Given the description of an element on the screen output the (x, y) to click on. 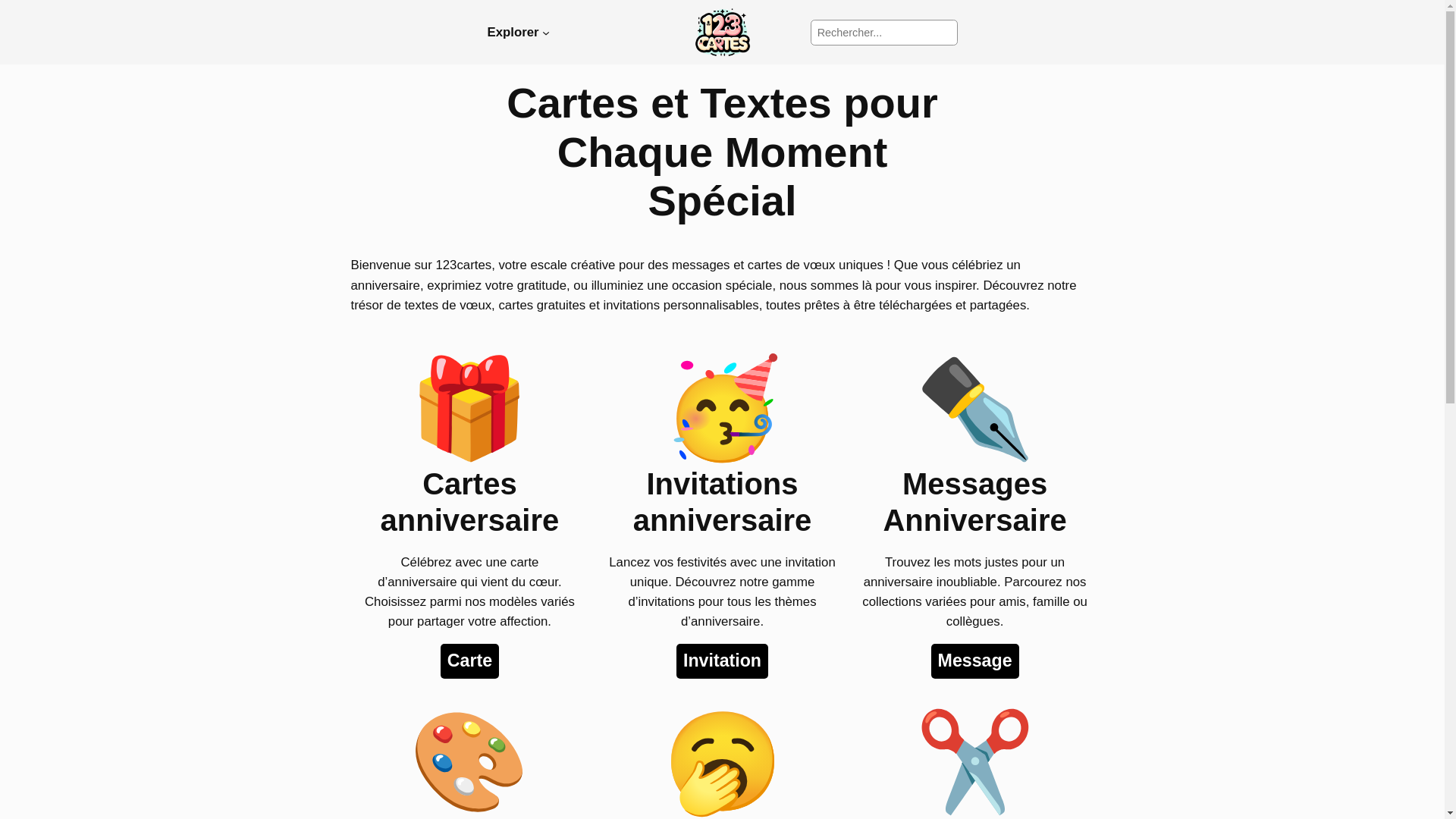
Invitation Element type: text (722, 660)
Message Element type: text (975, 660)
Explorer Element type: text (512, 32)
Carte Element type: text (469, 660)
